Given the description of an element on the screen output the (x, y) to click on. 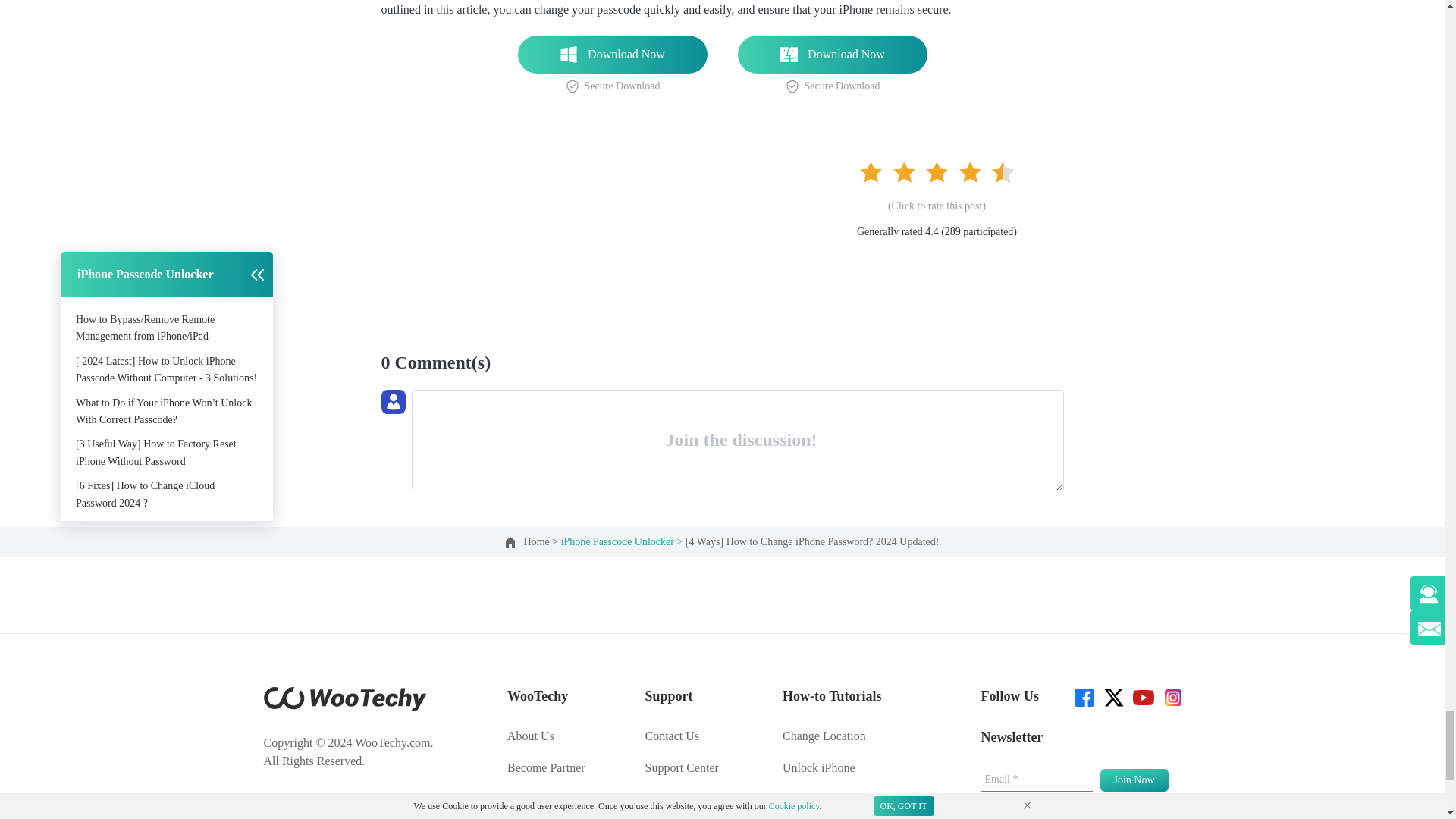
Join Now (1133, 780)
